Given the description of an element on the screen output the (x, y) to click on. 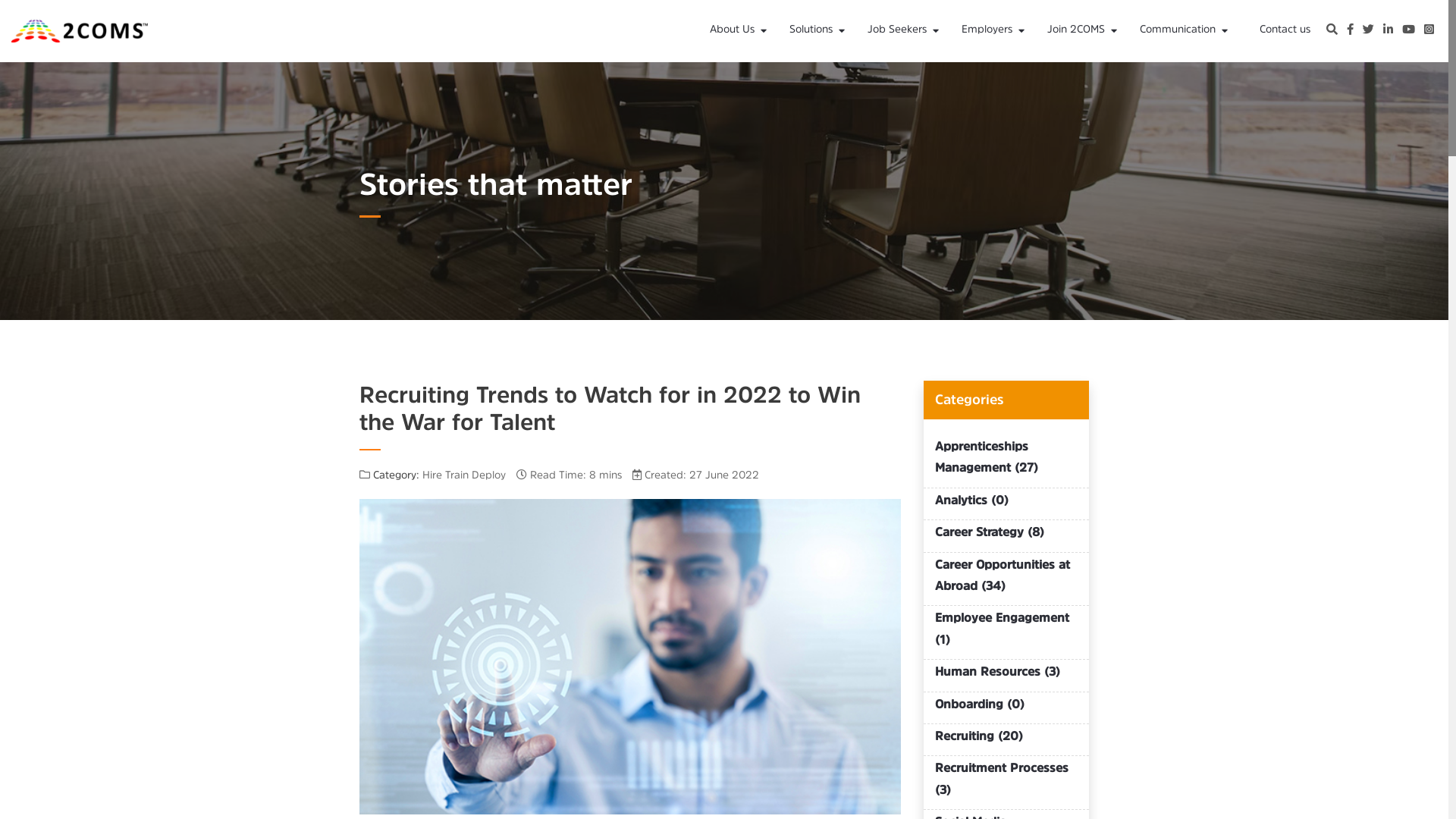
Hire Train Deploy Element type: text (463, 473)
Solutions Element type: text (819, 31)
2COMS The Brand Element type: text (814, 78)
Employers Element type: text (995, 31)
Blog Element type: text (1244, 78)
facebook Element type: hover (1350, 31)
twitter Element type: hover (1368, 31)
linkedin Element type: hover (1387, 31)
Contact us Element type: text (1284, 30)
Recruiting (20) Element type: text (978, 735)
Join 2COMS Element type: text (1084, 31)
Domestic Opportunities Element type: text (972, 78)
Onboarding (0) Element type: text (979, 703)
Client Testimonials Element type: text (1066, 78)
Why Join Us Element type: text (1151, 78)
Recruitments Element type: text (894, 78)
Human Resources (3) Element type: text (997, 671)
Instagram Element type: hover (1428, 31)
Career Strategy (8) Element type: text (989, 531)
About Us Element type: text (740, 31)
Apprenticeships Management (27) Element type: text (986, 456)
Career Opportunities at Abroad (34) Element type: text (1002, 574)
Analytics (0) Element type: text (971, 499)
Employee Engagement (1) Element type: text (1002, 627)
Job Seekers Element type: text (905, 31)
Search Element type: hover (1331, 31)
Communication Element type: text (1185, 31)
youtube Element type: hover (1408, 31)
Recruitment Processes (3) Element type: text (1001, 777)
